Given the description of an element on the screen output the (x, y) to click on. 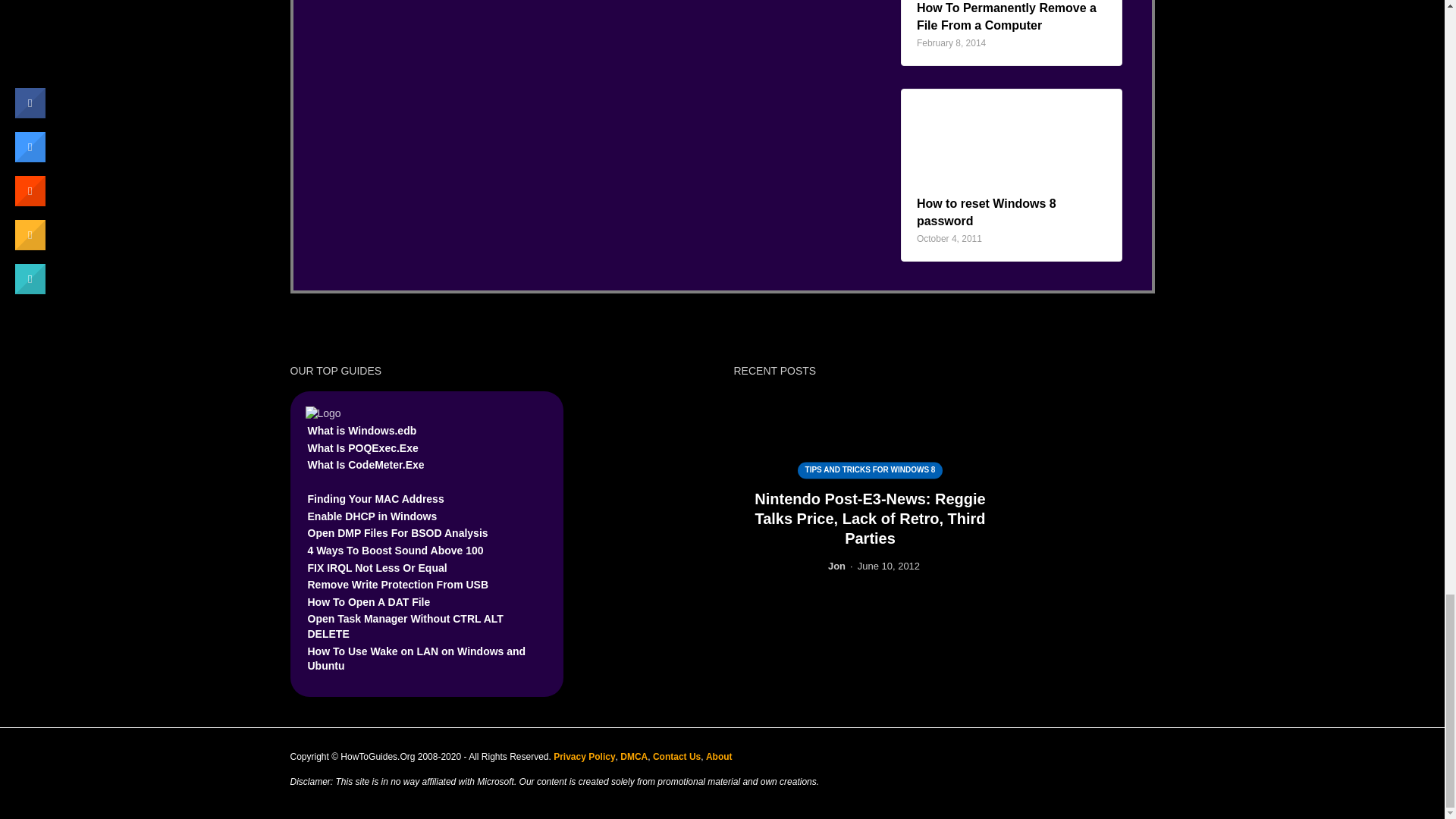
BACK TO TOP  (1123, 757)
